Given the description of an element on the screen output the (x, y) to click on. 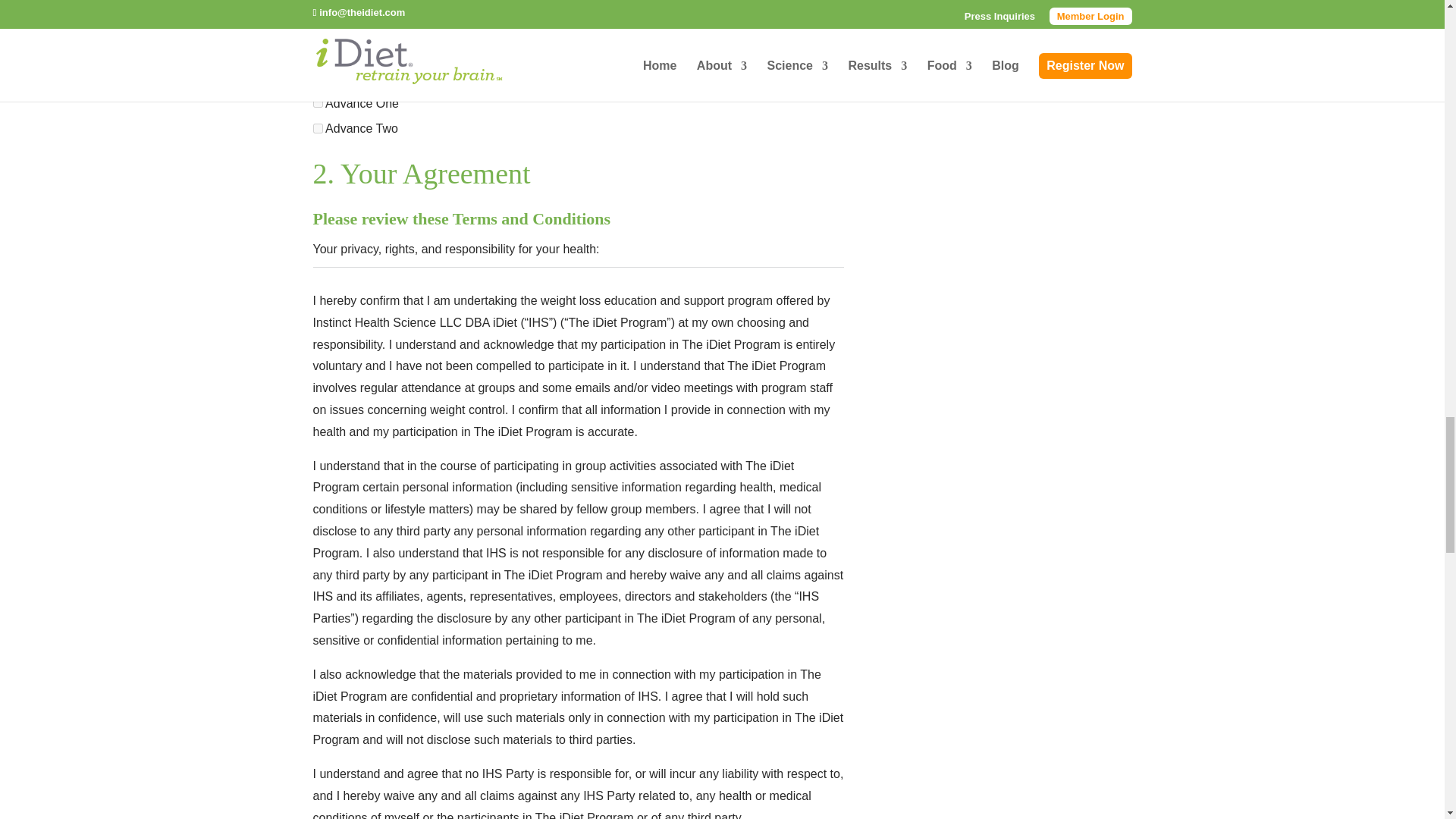
Jump (317, 25)
Advance One (317, 102)
Engage (317, 76)
OnDemand (317, 50)
Advance Two (317, 128)
